Given the description of an element on the screen output the (x, y) to click on. 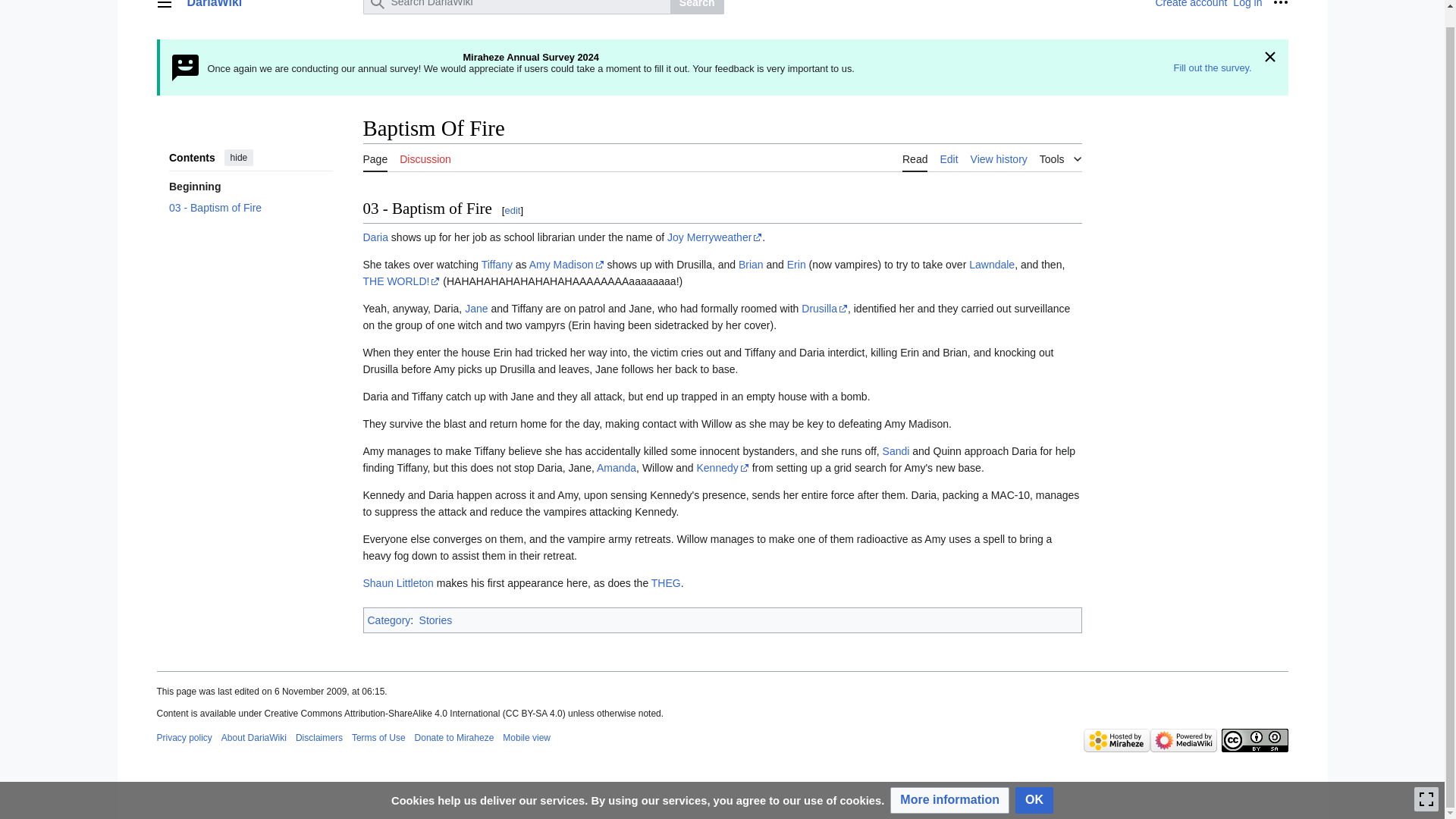
Log in (1247, 4)
Fill out the survey. (1212, 67)
Search (696, 7)
Read (914, 157)
Page (374, 157)
Discussion (424, 157)
View history (999, 157)
Hide (1269, 57)
More options (1280, 7)
hide (238, 157)
DariaWiki (270, 4)
Beginning (249, 186)
03 - Baptism of Fire (249, 207)
Create account (1190, 4)
